Given the description of an element on the screen output the (x, y) to click on. 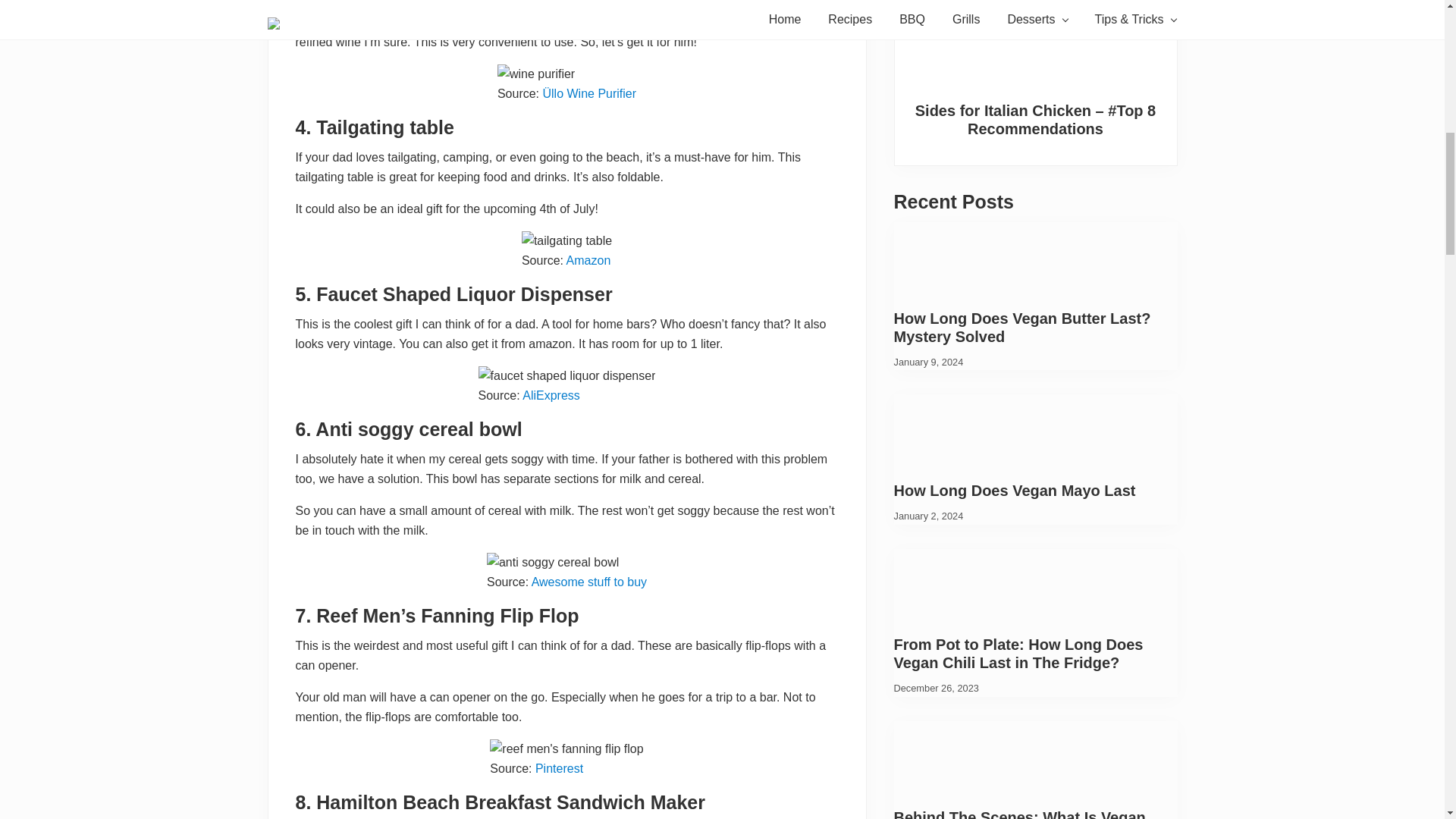
AliExpress (550, 395)
Pinterest (557, 768)
Awesome stuff to buy (588, 581)
Amazon (588, 259)
